Given the description of an element on the screen output the (x, y) to click on. 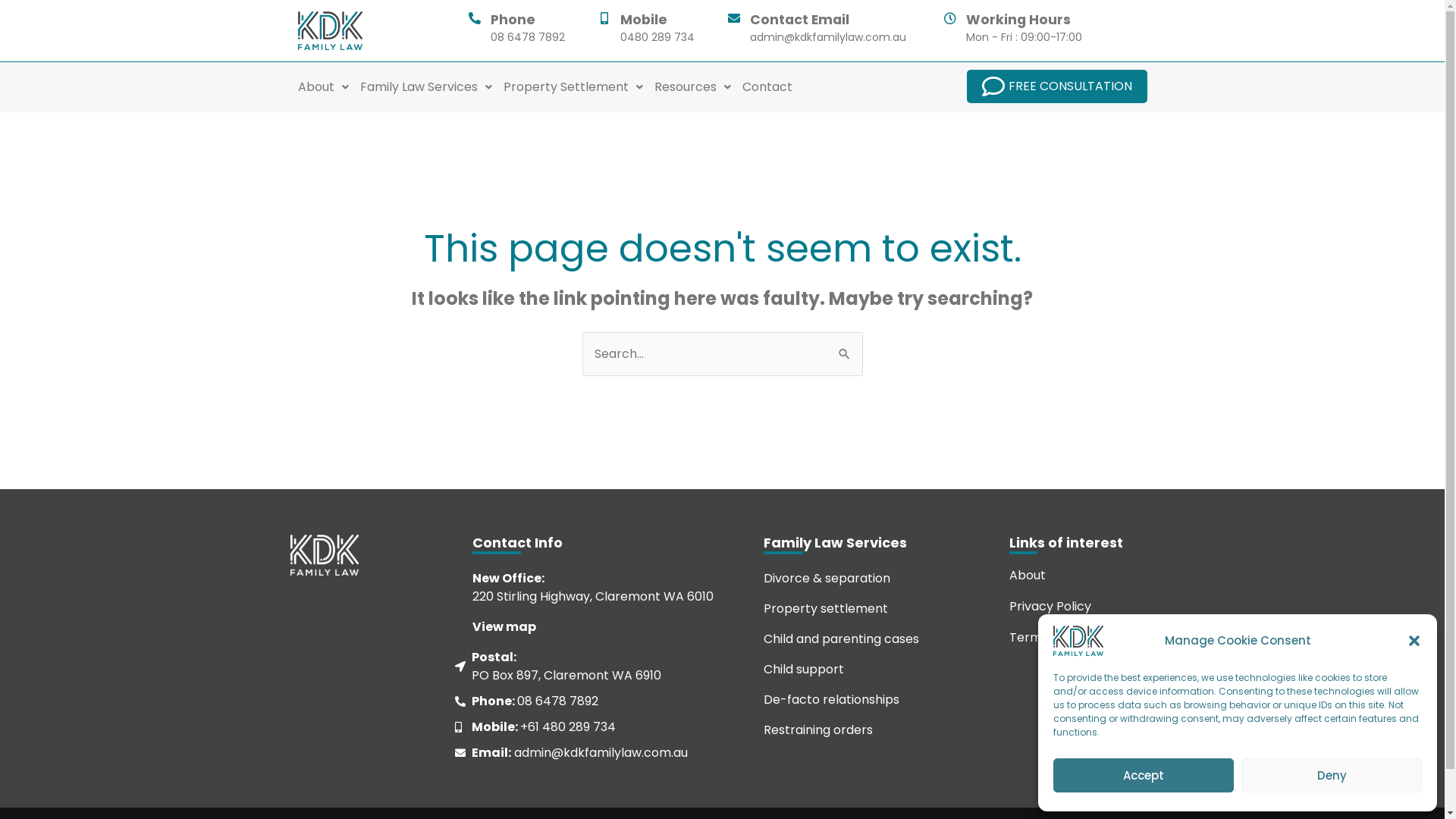
View map Element type: text (503, 626)
Privacy Policy Element type: text (1079, 606)
Mobile: +61 480 289 734 Element type: text (586, 727)
Phone Element type: text (511, 19)
Accept Element type: text (1143, 775)
Mobile Element type: text (643, 19)
Working Hours Element type: text (1018, 19)
Contact Email Element type: text (798, 19)
Phone: 08 6478 7892 Element type: text (586, 701)
FREE CONSULTATION Element type: text (1056, 86)
Email: admin@kdkfamilylaw.com.au Element type: text (586, 752)
Contact Element type: text (766, 86)
Resources Element type: text (691, 86)
Terms and Conditions Element type: text (1079, 637)
About Element type: text (1079, 575)
Deny Element type: text (1331, 775)
About Element type: text (322, 86)
Property Settlement Element type: text (573, 86)
Family Law Services Element type: text (425, 86)
Search Element type: text (845, 348)
